Given the description of an element on the screen output the (x, y) to click on. 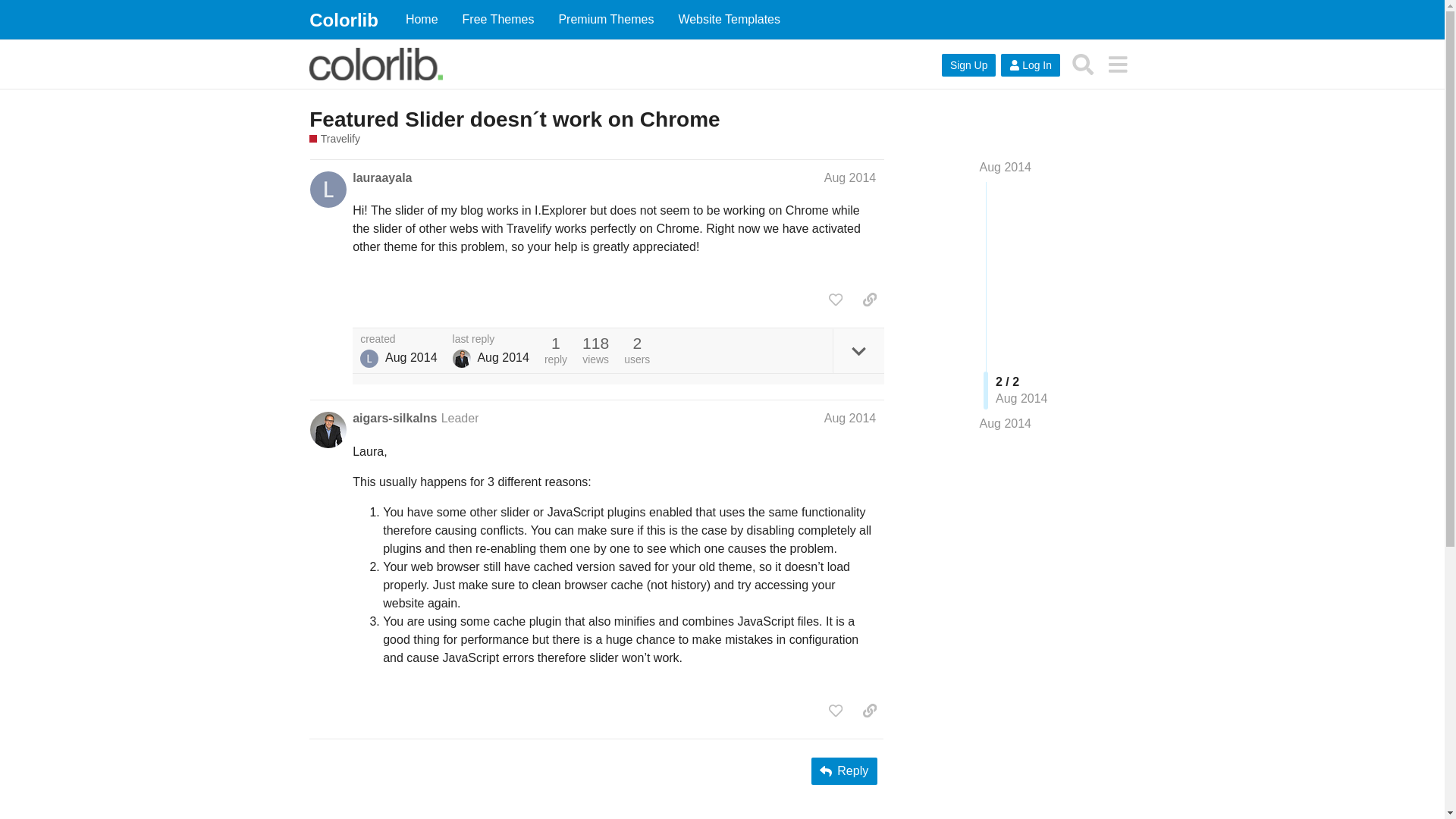
copy a link to this post to clipboard (869, 299)
Premium Themes (605, 19)
menu (1117, 63)
Aug 2014 (850, 177)
Log In (1030, 65)
Post date (850, 418)
Jump to the last post (1005, 422)
Aug 2014 (1005, 423)
last reply (490, 339)
Aug 2014 (1005, 166)
Home (421, 19)
LauraAyala (368, 358)
Aug 21, 2014 5:48 pm (411, 358)
Aug 2014 (850, 418)
Post date (850, 177)
